Given the description of an element on the screen output the (x, y) to click on. 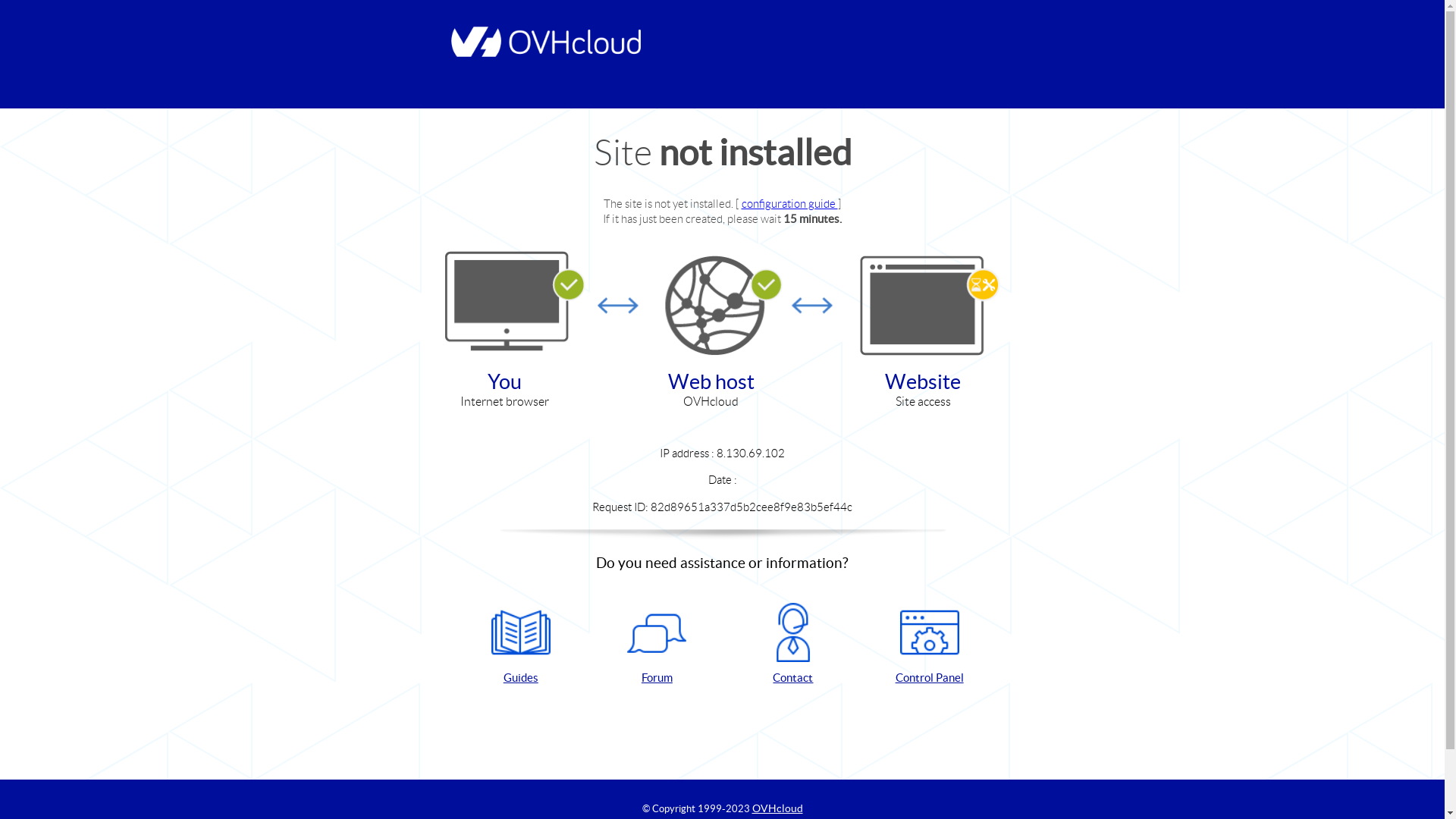
OVHcloud Element type: text (777, 808)
configuration guide Element type: text (789, 203)
Forum Element type: text (656, 644)
Contact Element type: text (792, 644)
Guides Element type: text (520, 644)
Control Panel Element type: text (929, 644)
